Given the description of an element on the screen output the (x, y) to click on. 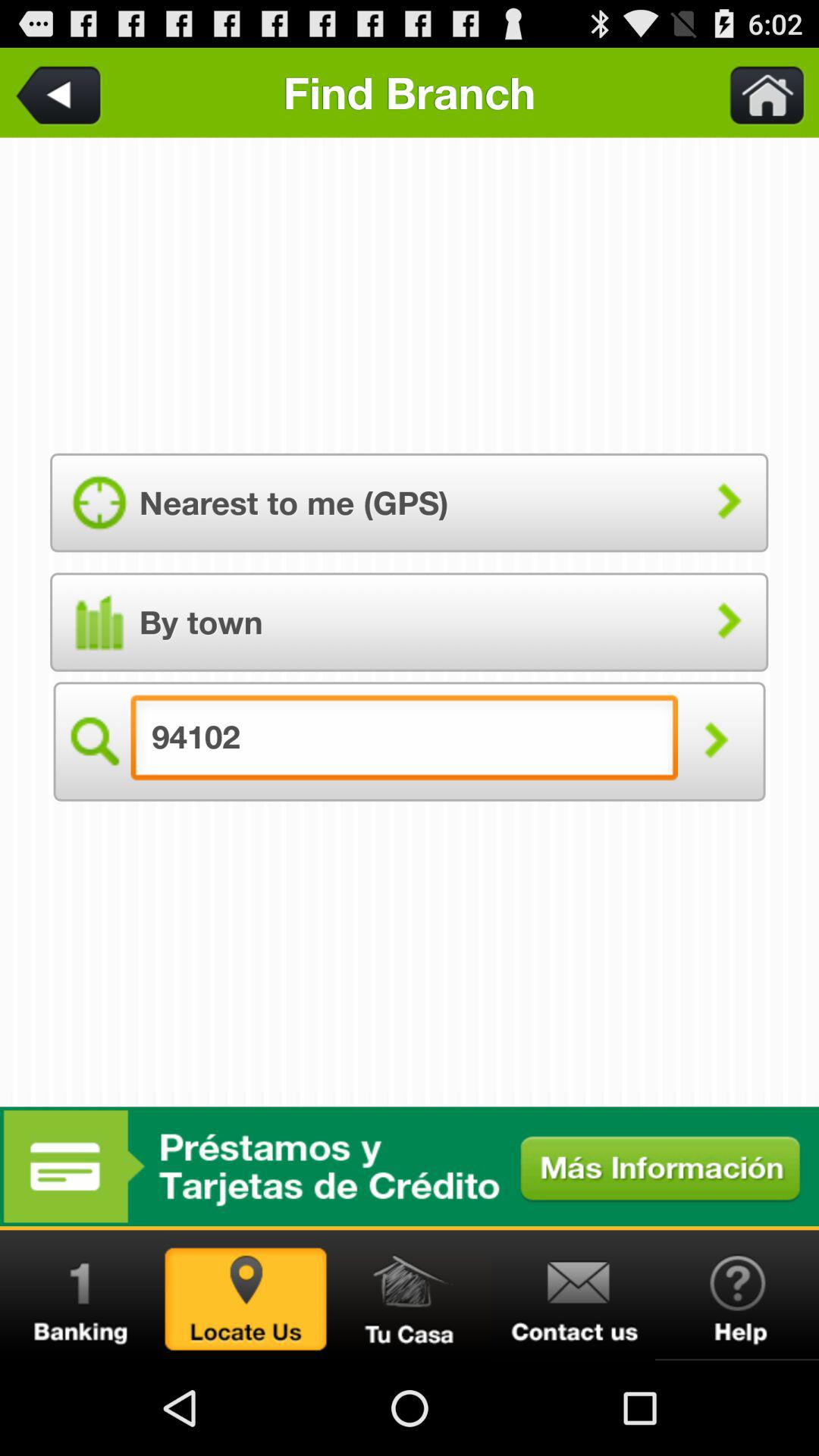
get help or assistance (737, 1295)
